Given the description of an element on the screen output the (x, y) to click on. 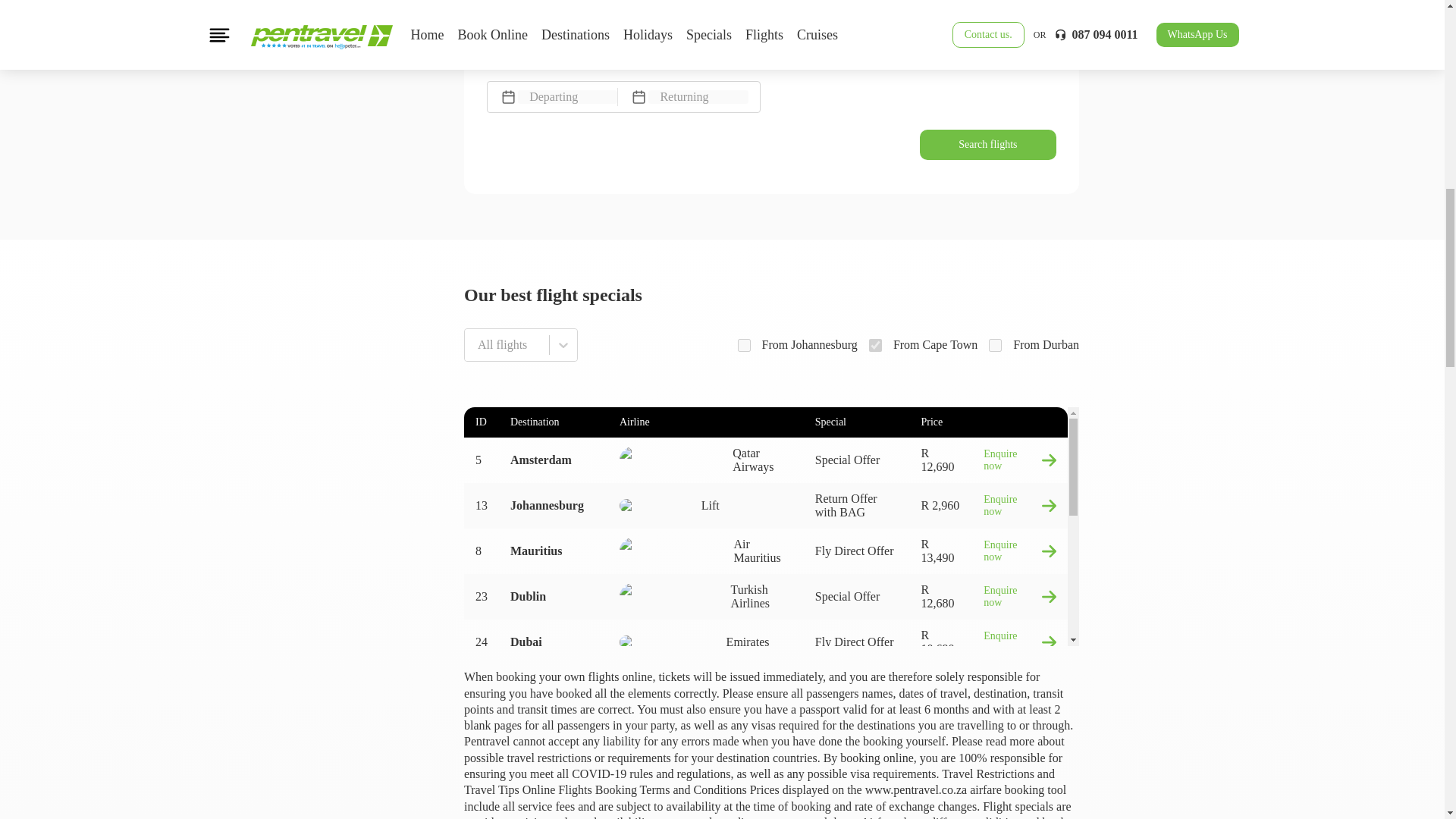
CPT (875, 345)
DUR (994, 345)
Enquire now (1020, 778)
Enquire now (1020, 550)
Enquire now (1020, 687)
Enquire now (1020, 596)
Enquire now (1020, 505)
Enquire now (1020, 641)
JNB (742, 345)
Search flights (988, 144)
